Given the description of an element on the screen output the (x, y) to click on. 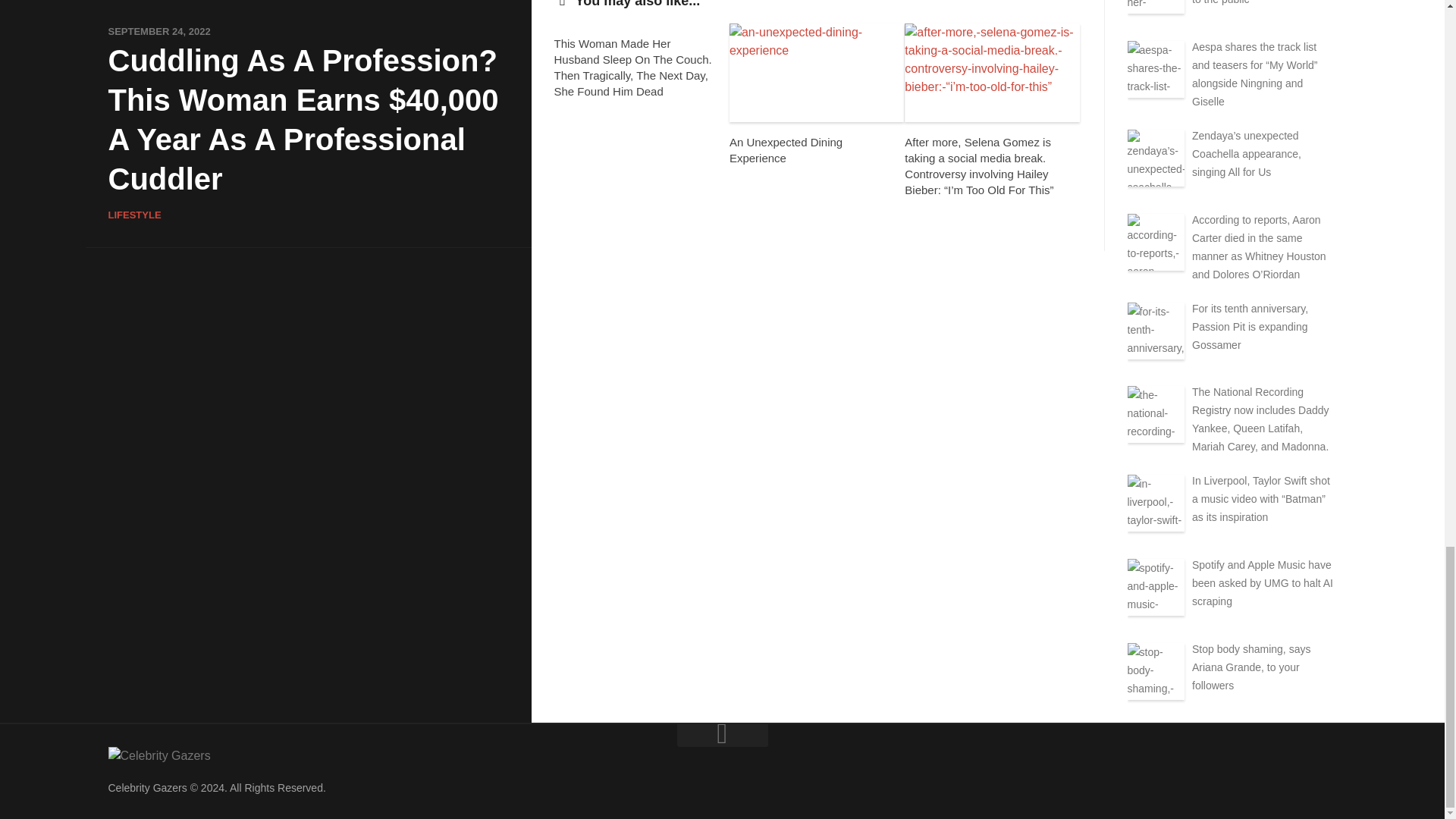
An Unexpected Dining Experience (786, 149)
